Given the description of an element on the screen output the (x, y) to click on. 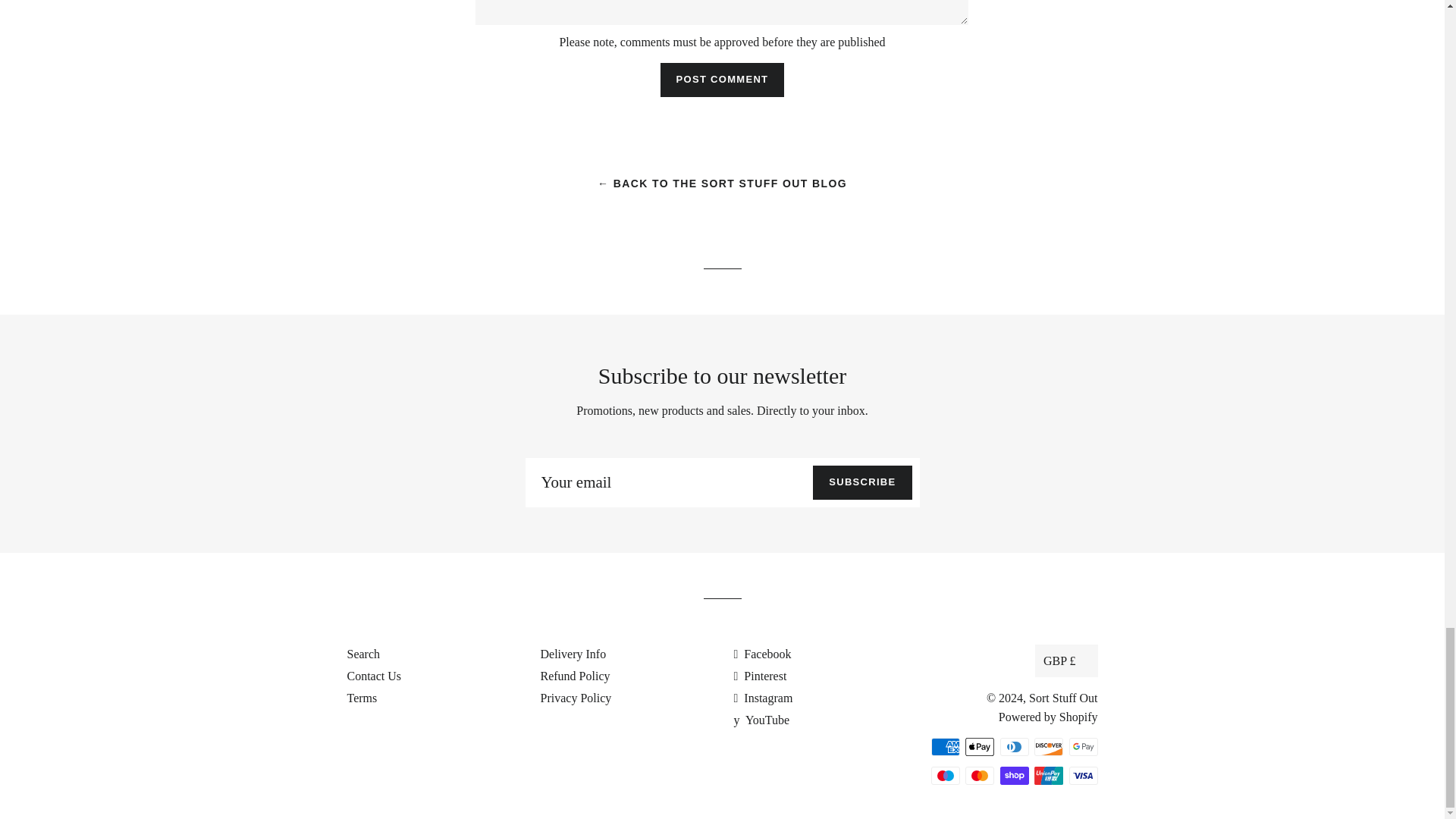
Discover (1047, 746)
Sort Stuff Out on Facebook (762, 653)
Apple Pay (979, 746)
Mastercard (979, 775)
Sort Stuff Out on Pinterest (760, 675)
Shop Pay (1012, 775)
American Express (945, 746)
Google Pay (1082, 746)
Union Pay (1047, 775)
Post comment (722, 79)
